Given the description of an element on the screen output the (x, y) to click on. 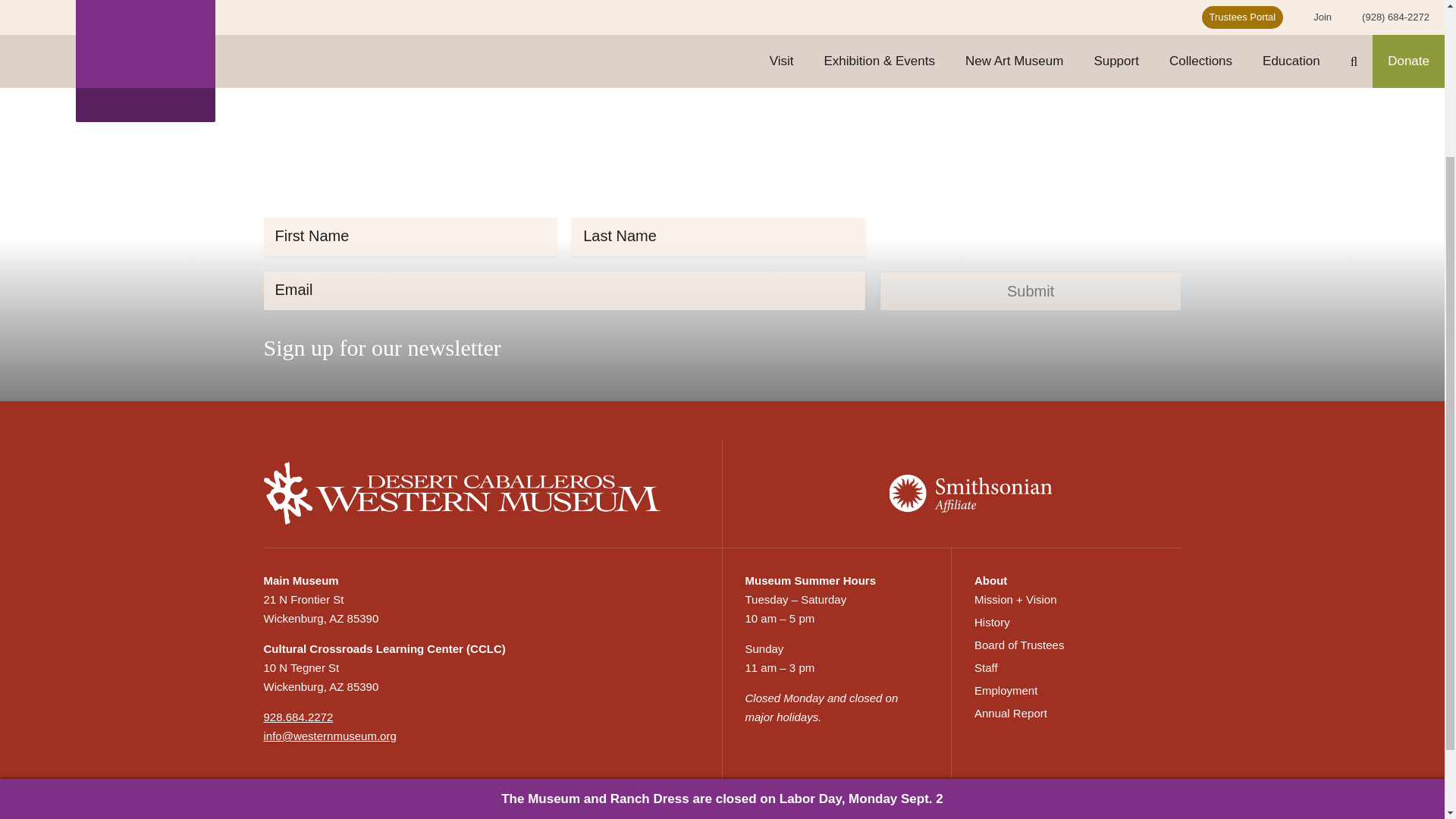
Submit (1030, 290)
Search (423, 26)
Search (423, 26)
